Given the description of an element on the screen output the (x, y) to click on. 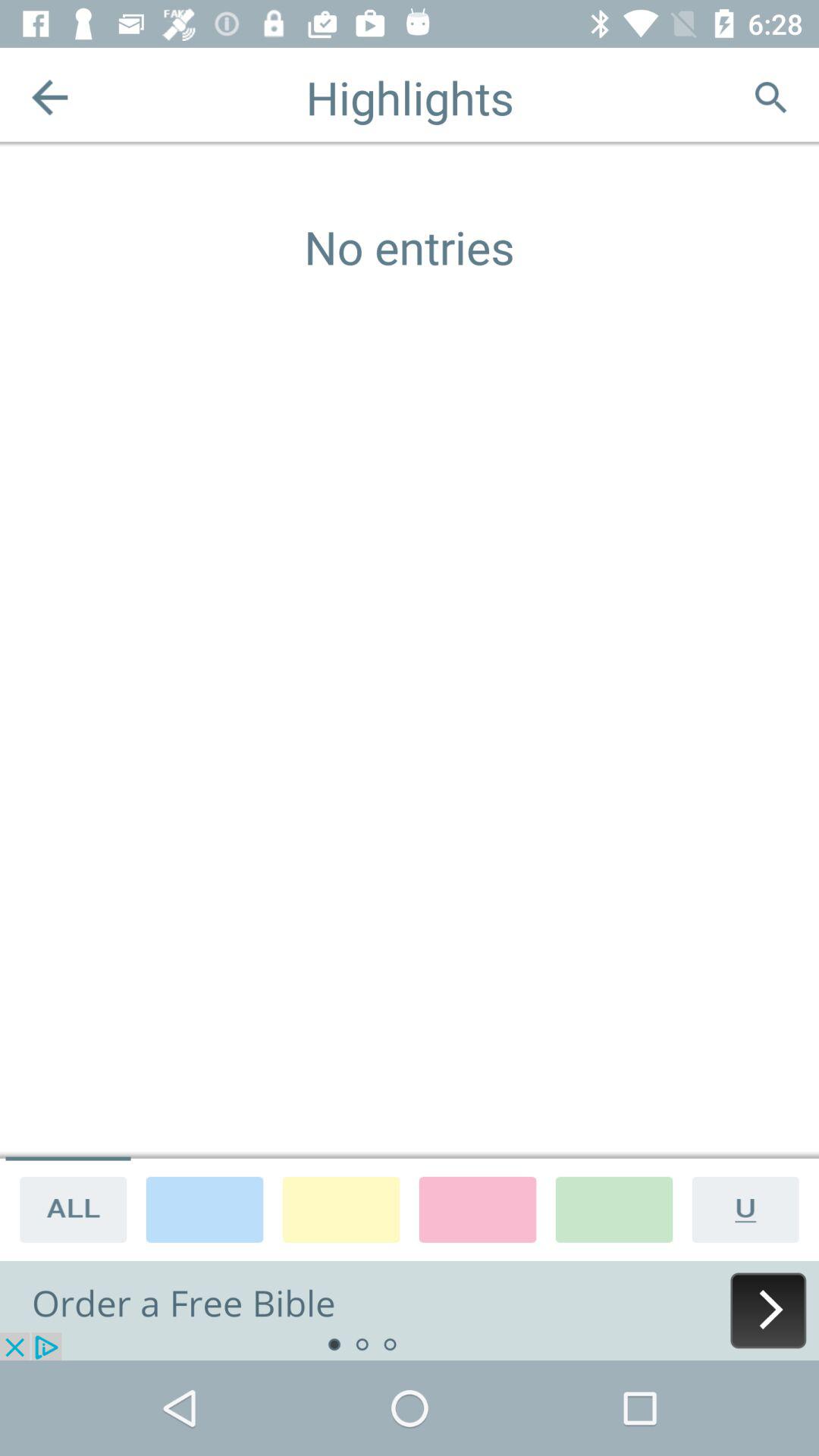
open advertisement (409, 1310)
